Given the description of an element on the screen output the (x, y) to click on. 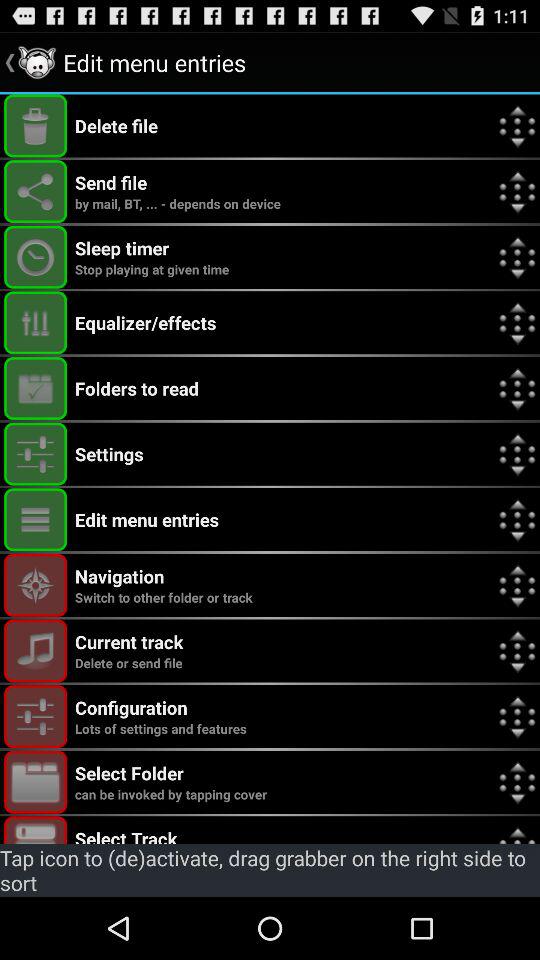
option to open (35, 388)
